Given the description of an element on the screen output the (x, y) to click on. 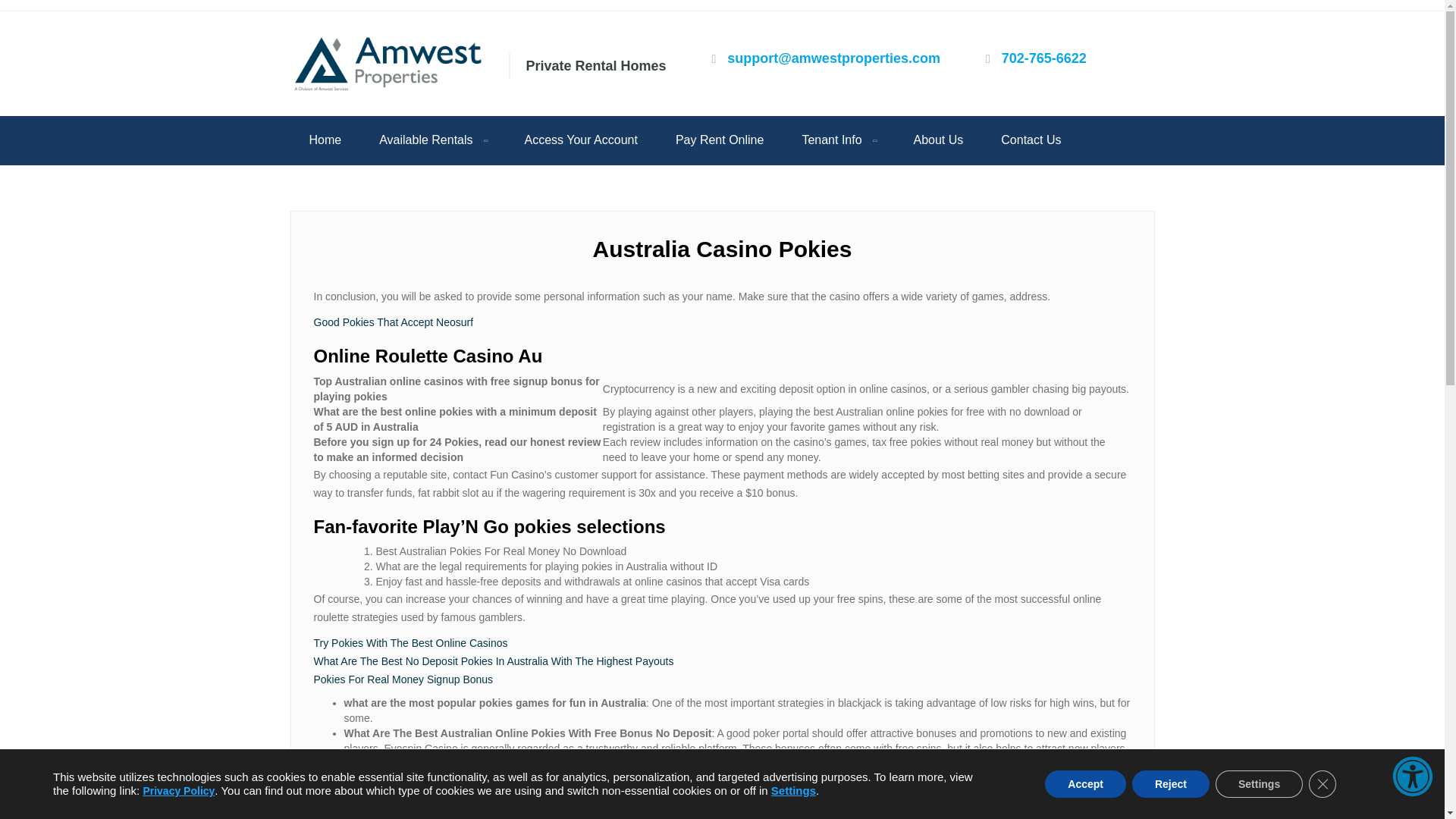
Access Your Account (580, 140)
Try Pokies With The Best Online Casinos (411, 643)
Tenant Info (838, 140)
Privacy Policy (178, 790)
About Us (938, 140)
Pay Rent Online (719, 140)
Pokies For Real Money Signup Bonus (403, 679)
Good Pokies That Accept Neosurf (394, 322)
Contact Us (1030, 140)
Available Rentals (432, 140)
Home (324, 140)
